Given the description of an element on the screen output the (x, y) to click on. 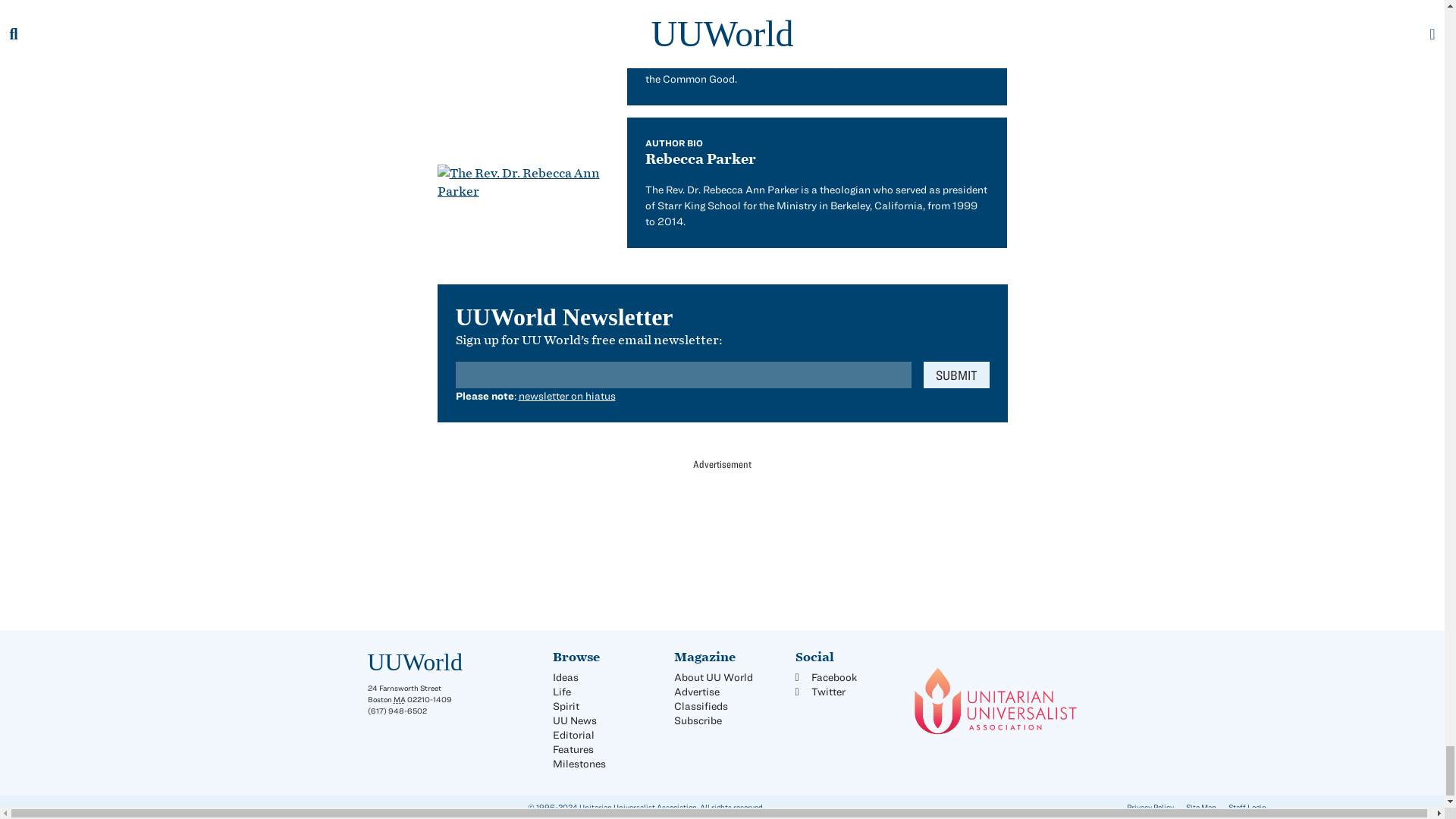
3rd party ad content (721, 532)
UUWorld (413, 661)
Subscribe by email. (956, 374)
Submit (956, 374)
